Given the description of an element on the screen output the (x, y) to click on. 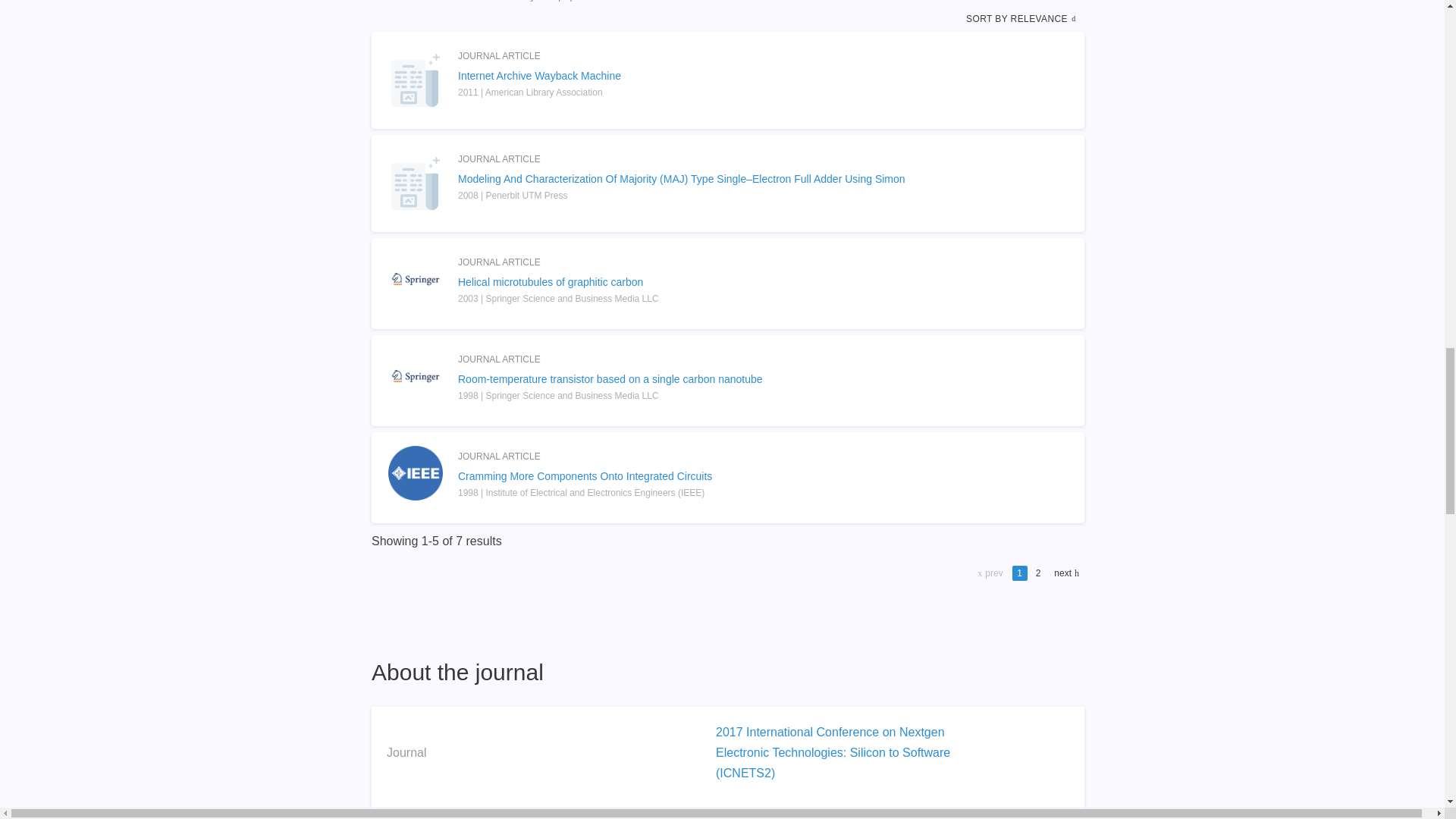
Cramming More Components Onto Integrated Circuits (727, 475)
IEEE (729, 816)
SORT BY RELEVANCE (1022, 18)
Publication cover (415, 278)
Publication cover (415, 375)
next (1064, 573)
Helical microtubules of graphitic carbon (727, 281)
Internet Archive Wayback Machine (727, 75)
1 (1019, 573)
Publication cover (415, 472)
